Given the description of an element on the screen output the (x, y) to click on. 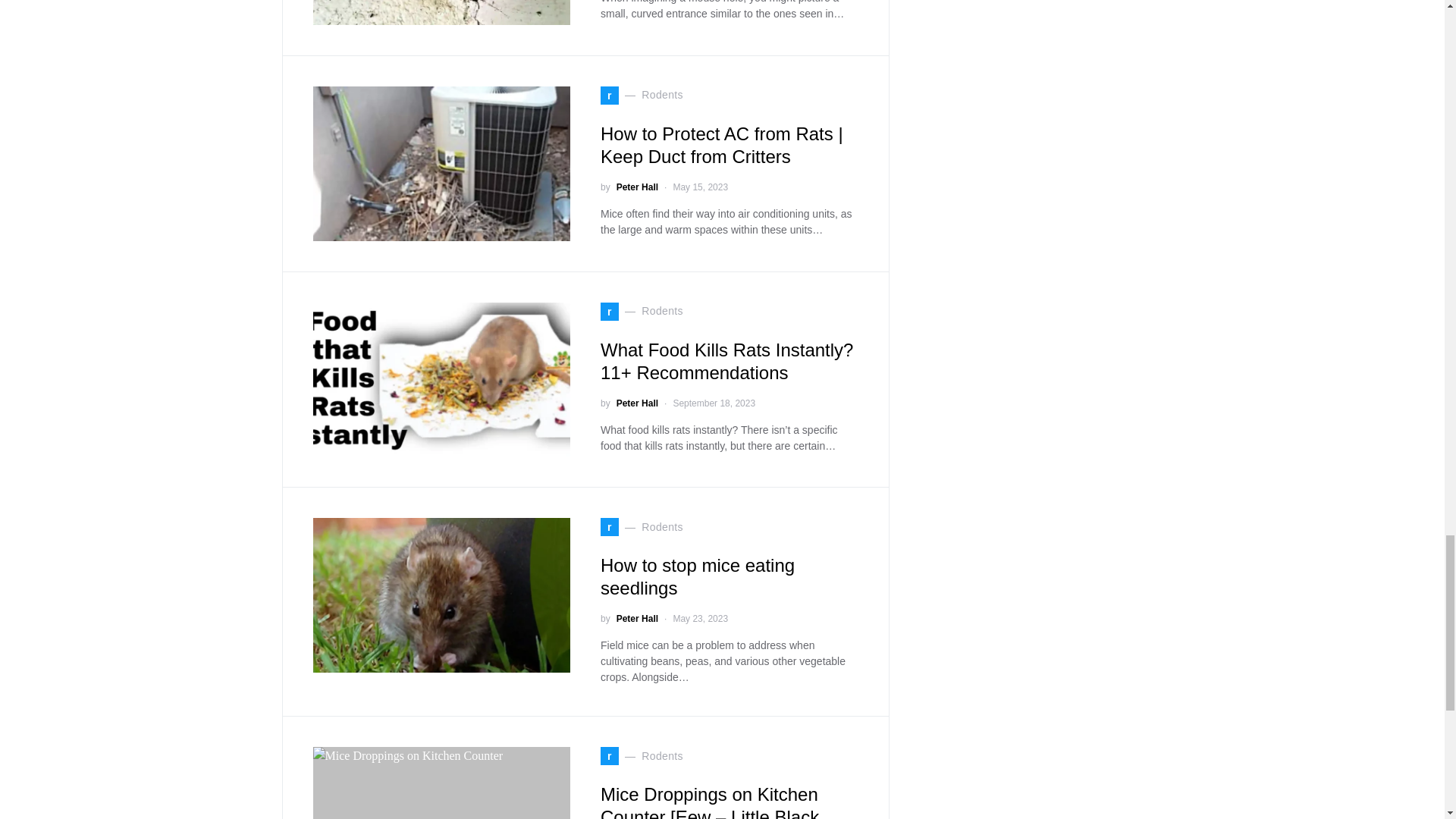
View all posts by Peter Hall (636, 403)
Peter Hall (636, 187)
View all posts by Peter Hall (636, 187)
View all posts by Peter Hall (636, 618)
